Given the description of an element on the screen output the (x, y) to click on. 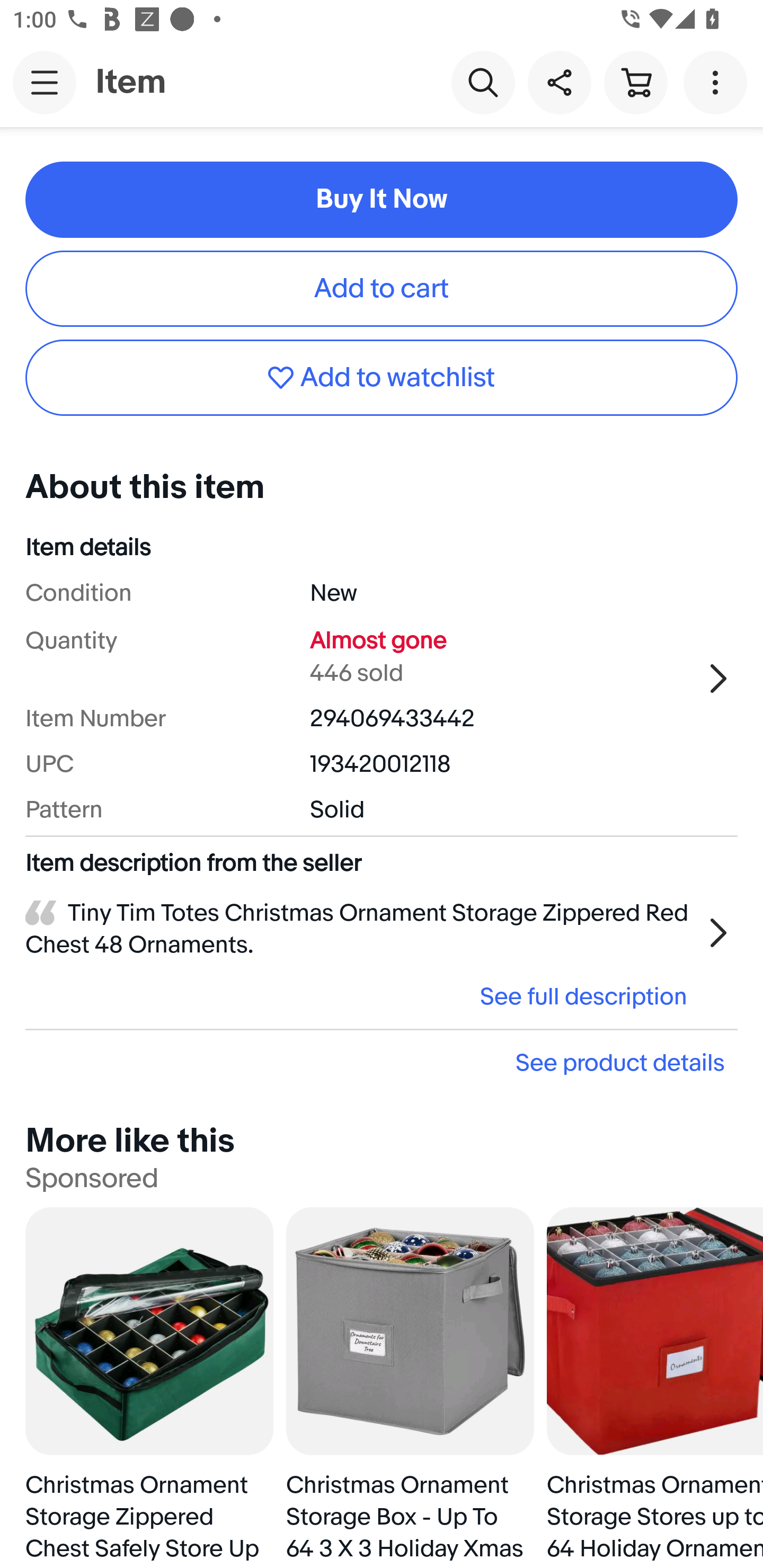
Main navigation, open (44, 82)
Search (482, 81)
Share this item (559, 81)
Cart button shopping cart (635, 81)
More options (718, 81)
Buy It Now (381, 199)
Add to cart (381, 288)
Add to watchlist (381, 377)
See full description (362, 996)
See product details (381, 1061)
